Given the description of an element on the screen output the (x, y) to click on. 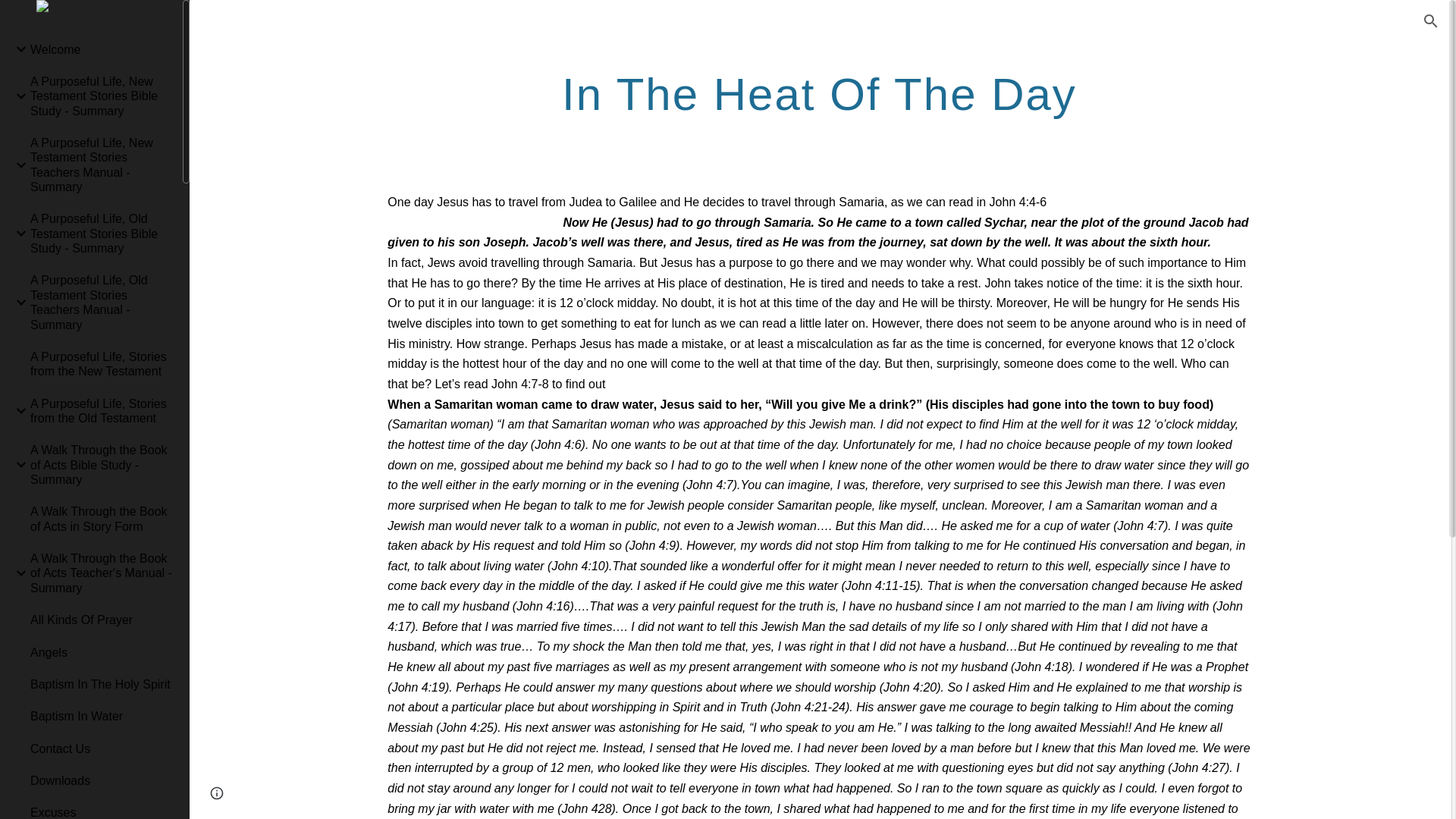
Welcome (100, 49)
